Given the description of an element on the screen output the (x, y) to click on. 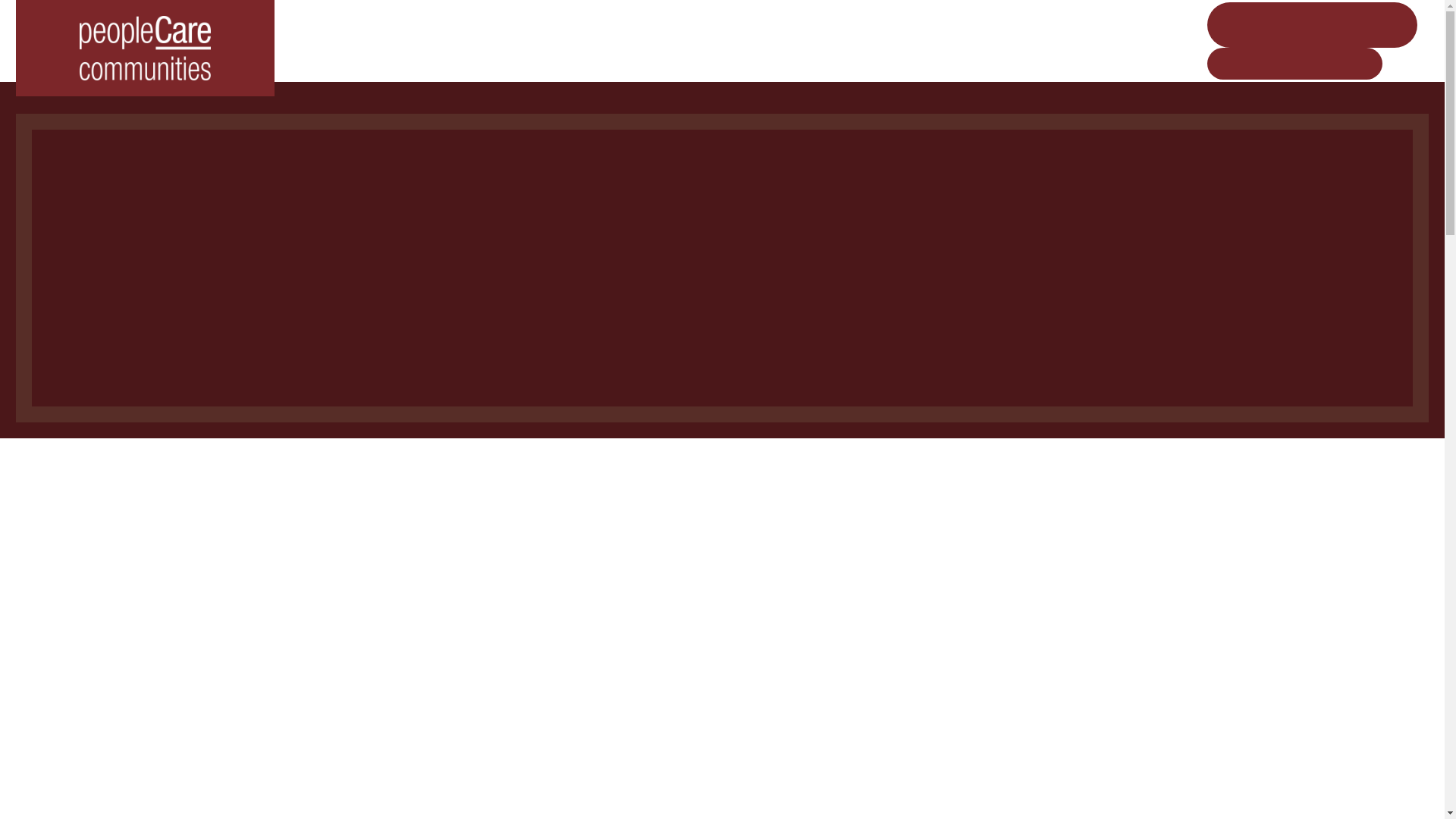
SCHEDULE YOUR TOUR (1294, 62)
REGISTER FOR GOLF TOURNAMENT (1311, 24)
